Given the description of an element on the screen output the (x, y) to click on. 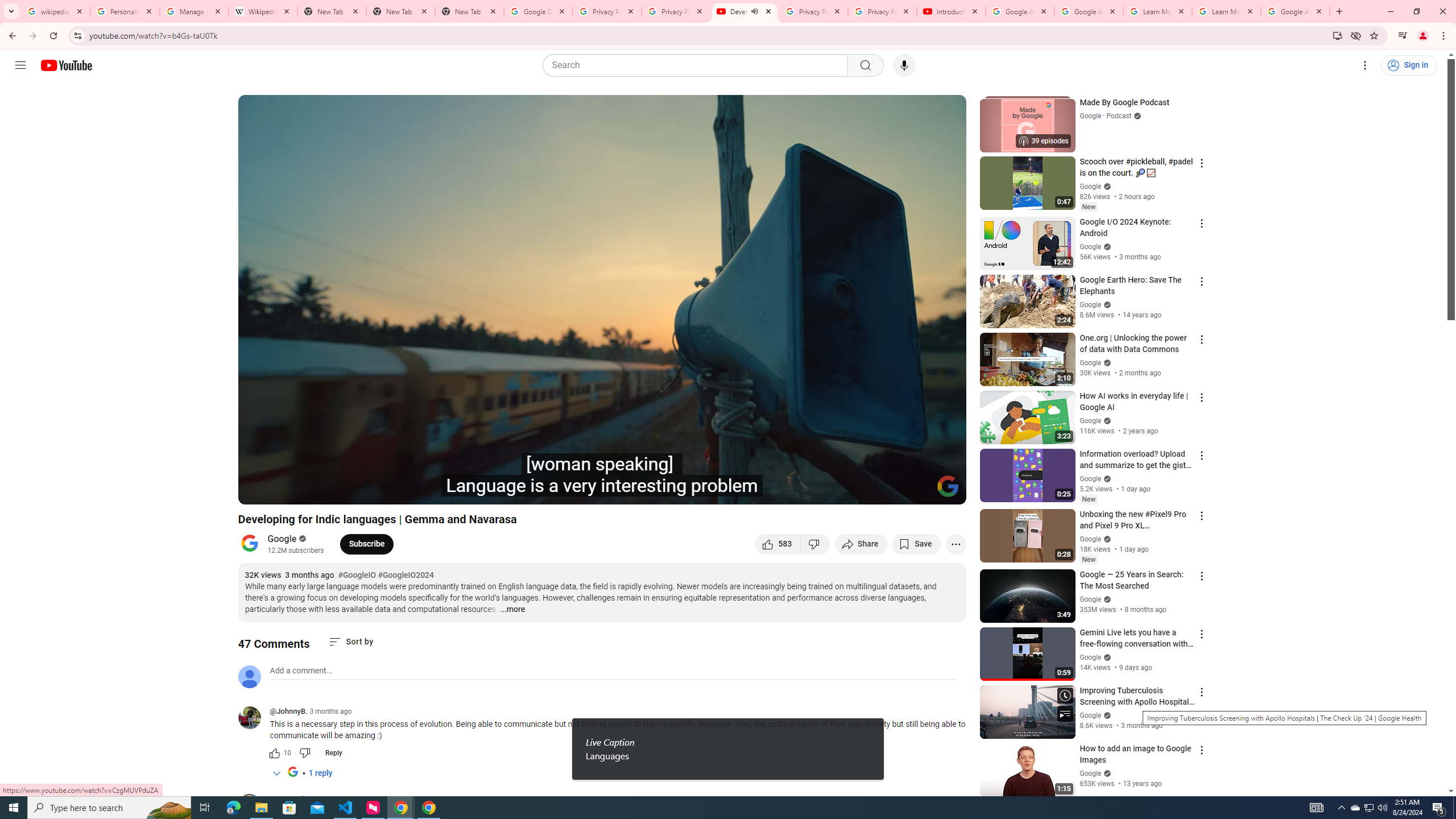
Install YouTube (1336, 35)
New Tab (400, 11)
Google Account (1295, 11)
Like this comment along with 10 other people (273, 752)
Google Account Help (1019, 11)
Autoplay is on (808, 490)
like this video along with 583 other people (777, 543)
Manage your Location History - Google Search Help (194, 11)
@JohnnyB. (253, 717)
Save to playlist (915, 543)
More actions (955, 543)
